Given the description of an element on the screen output the (x, y) to click on. 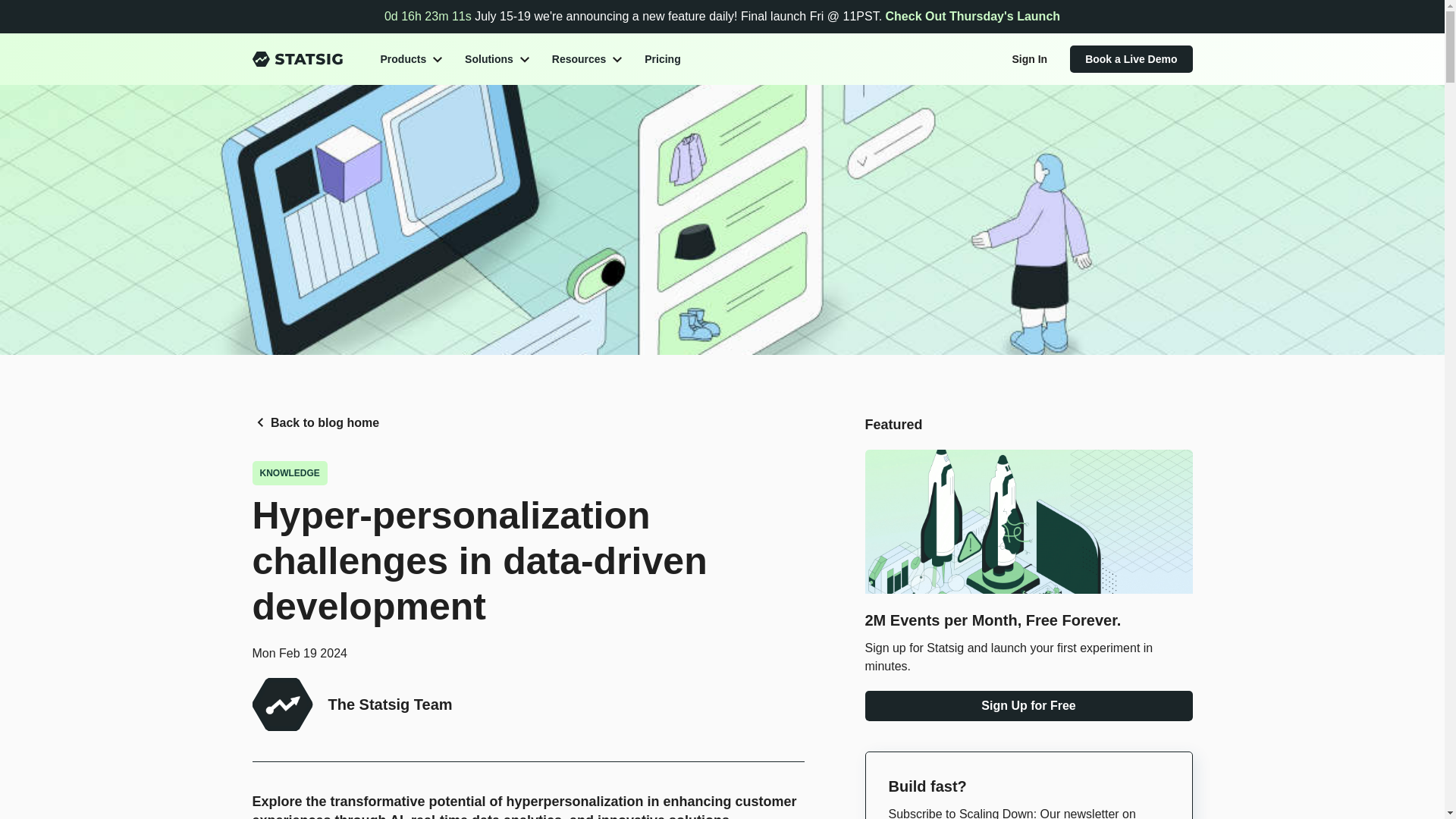
Book a Live Demo (1131, 58)
Pricing (662, 59)
Check Out Thursday's Launch (973, 15)
Sign In (1028, 58)
